Given the description of an element on the screen output the (x, y) to click on. 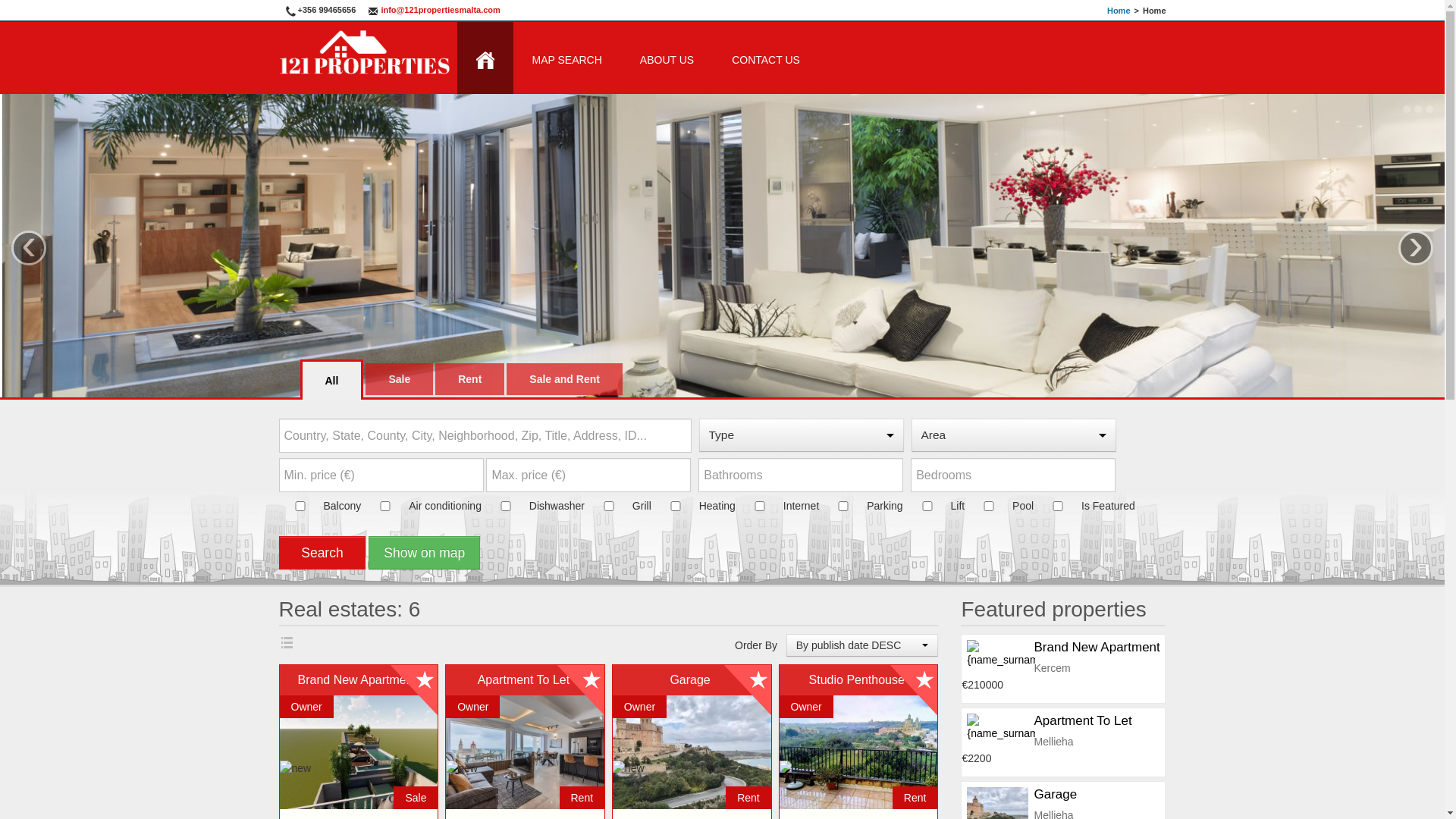
Rent Element type: text (469, 379)
Show on map Element type: text (424, 552)
Sale and Rent Element type: text (564, 379)
Sale Element type: text (399, 379)
ABOUT US Element type: text (666, 57)
info@121propertiesmalta.com Element type: text (433, 9)
  Search   Element type: text (322, 552)
Show on map Element type: text (424, 548)
Area
  Element type: text (1013, 434)
Brand New Apartment Element type: text (1096, 647)
Garage Element type: text (1054, 794)
CONTACT US Element type: text (765, 57)
MAP SEARCH Element type: text (566, 57)
By publish date DESC
  Element type: text (862, 644)
Type
  Element type: text (801, 434)
Home Element type: text (1118, 10)
All Element type: text (330, 380)
Apartment To Let Element type: text (1082, 720)
